Given the description of an element on the screen output the (x, y) to click on. 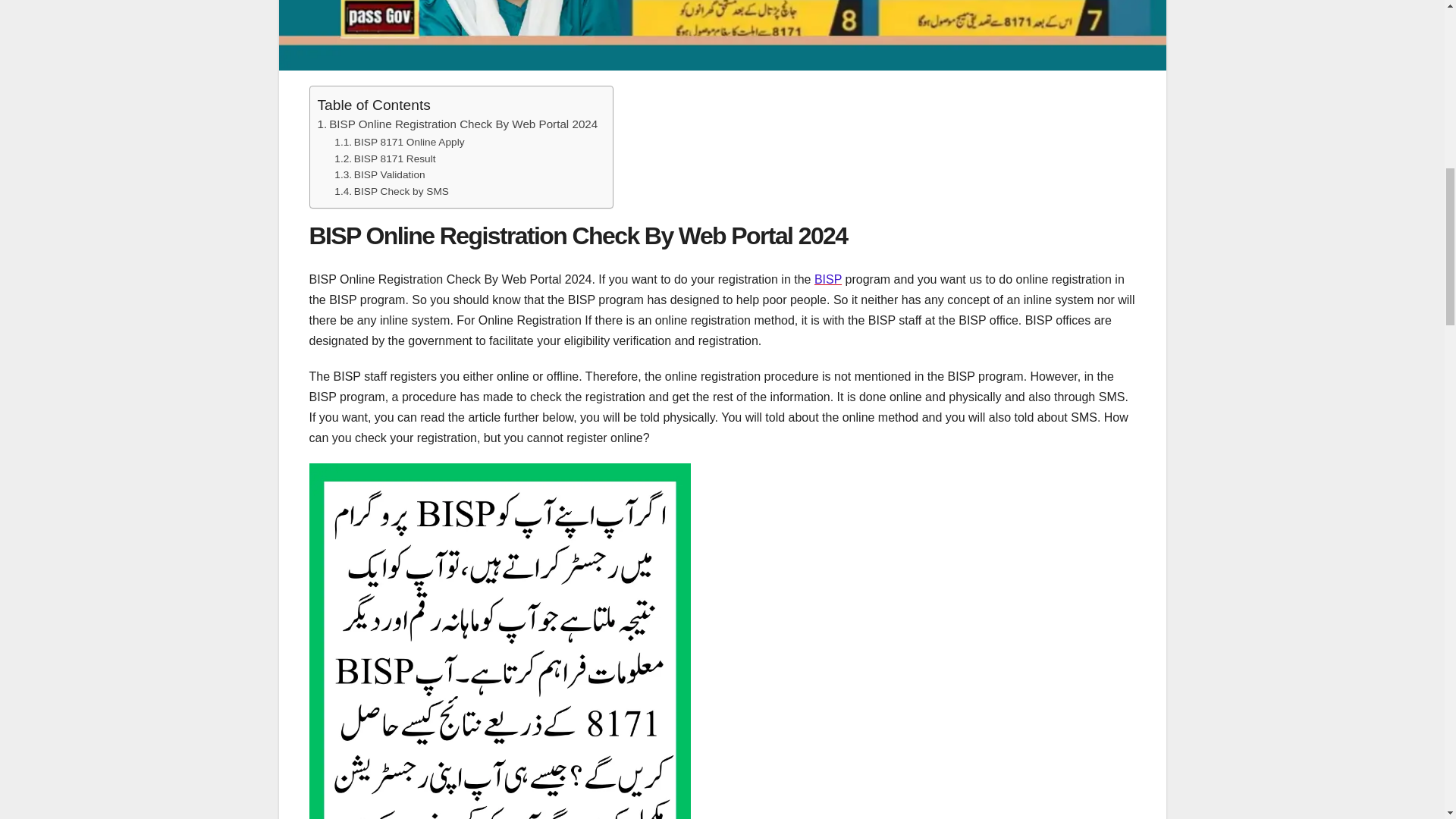
BISP Online Registration Check By Web Portal 2024 (456, 124)
BISP Online Registration Check By Web Portal 2024 (456, 124)
BISP Validation (379, 175)
BISP Validation (379, 175)
BISP Check by SMS (391, 191)
BISP Check by SMS (391, 191)
BISP 8171 Online Apply (399, 142)
BISP 8171 Result (384, 158)
BISP 8171 Online Apply (399, 142)
BISP (827, 278)
BISP 8171 Result (384, 158)
